Given the description of an element on the screen output the (x, y) to click on. 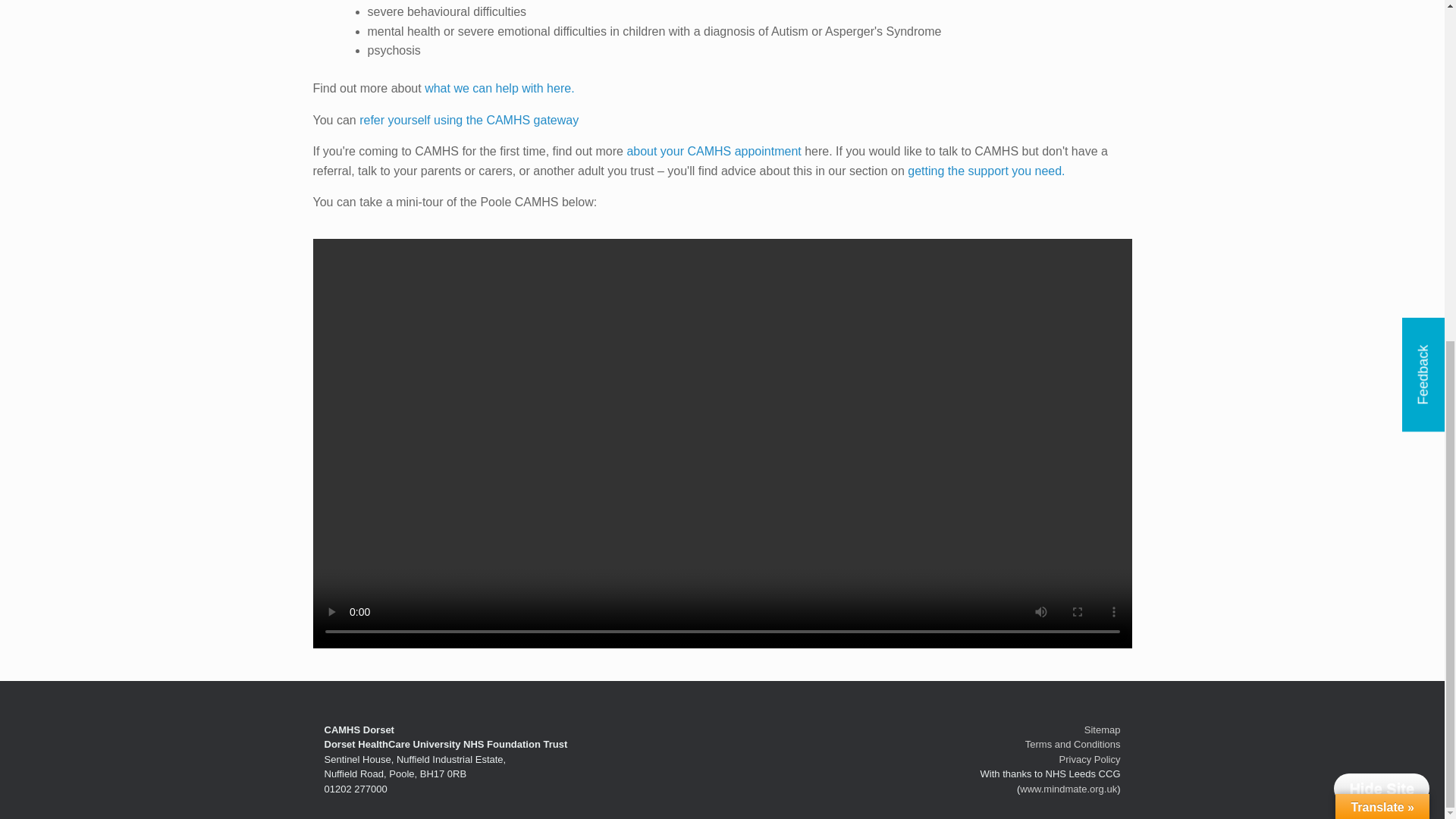
what we can help with here. (499, 88)
Hide Site (1381, 209)
